Given the description of an element on the screen output the (x, y) to click on. 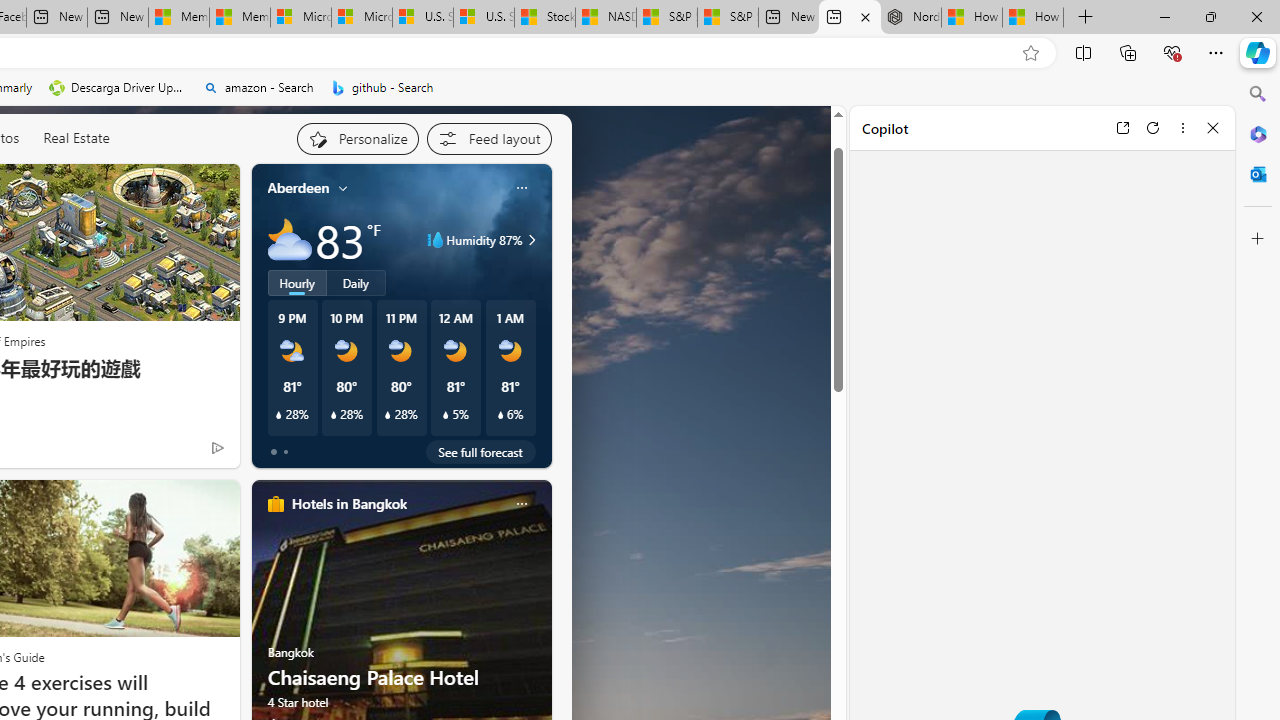
How to Use a Monitor With Your Closed Laptop (1033, 17)
Class: icon-img (521, 503)
Mostly cloudy (289, 240)
Hourly (296, 282)
tab-0 (273, 451)
Class: weather-current-precipitation-glyph (500, 415)
Aberdeen (298, 188)
Mostly cloudy (289, 240)
Customize (1258, 239)
